Given the description of an element on the screen output the (x, y) to click on. 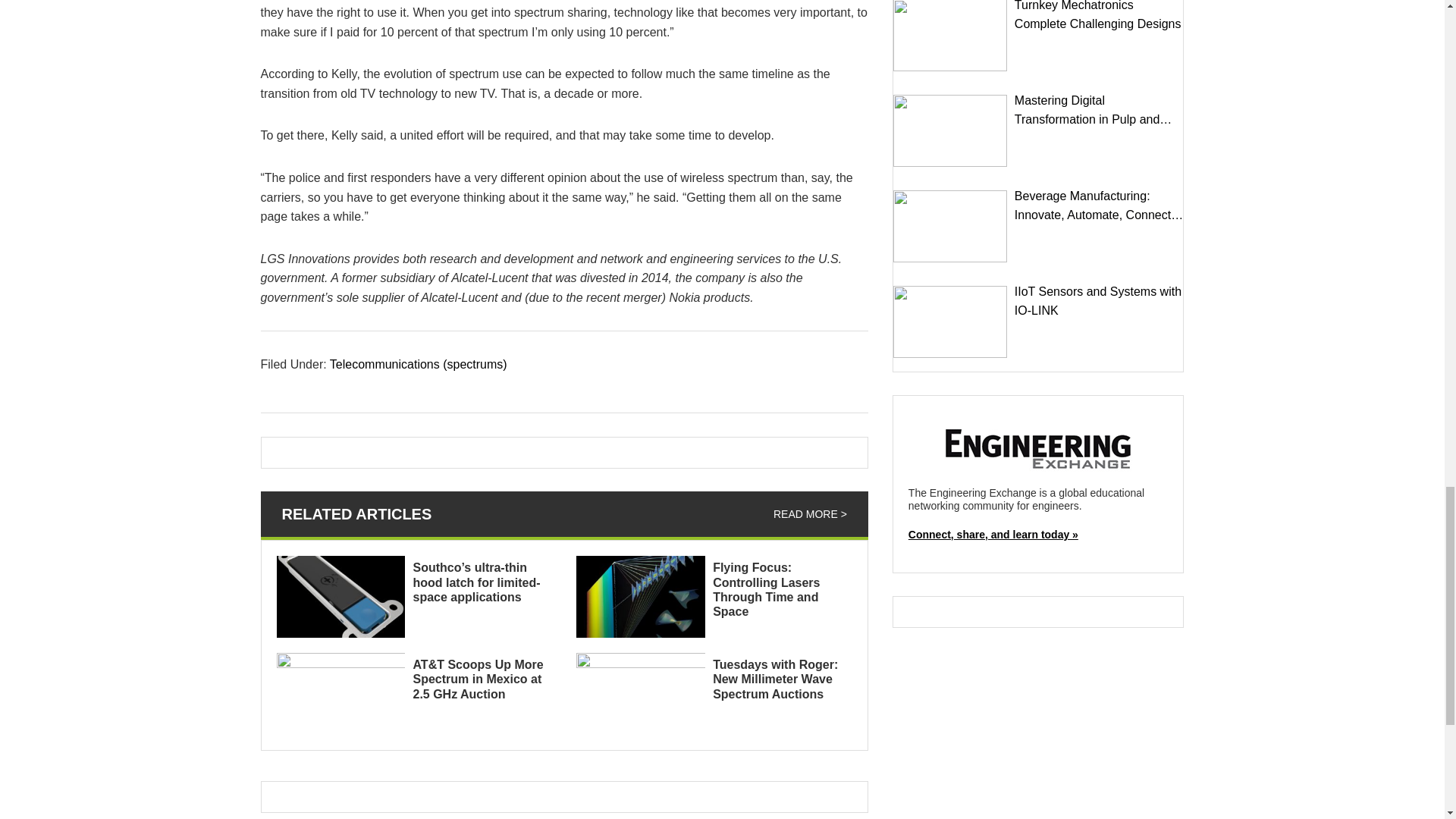
Mastering Digital Transformation in Pulp and Paper (950, 131)
Beverage Manufacturing: Innovate, Automate, Connect, Grow (950, 226)
IIoT Sensors and Systems with IO-LINK (950, 321)
Turnkey Mechatronics Complete Challenging Designs (950, 35)
